Given the description of an element on the screen output the (x, y) to click on. 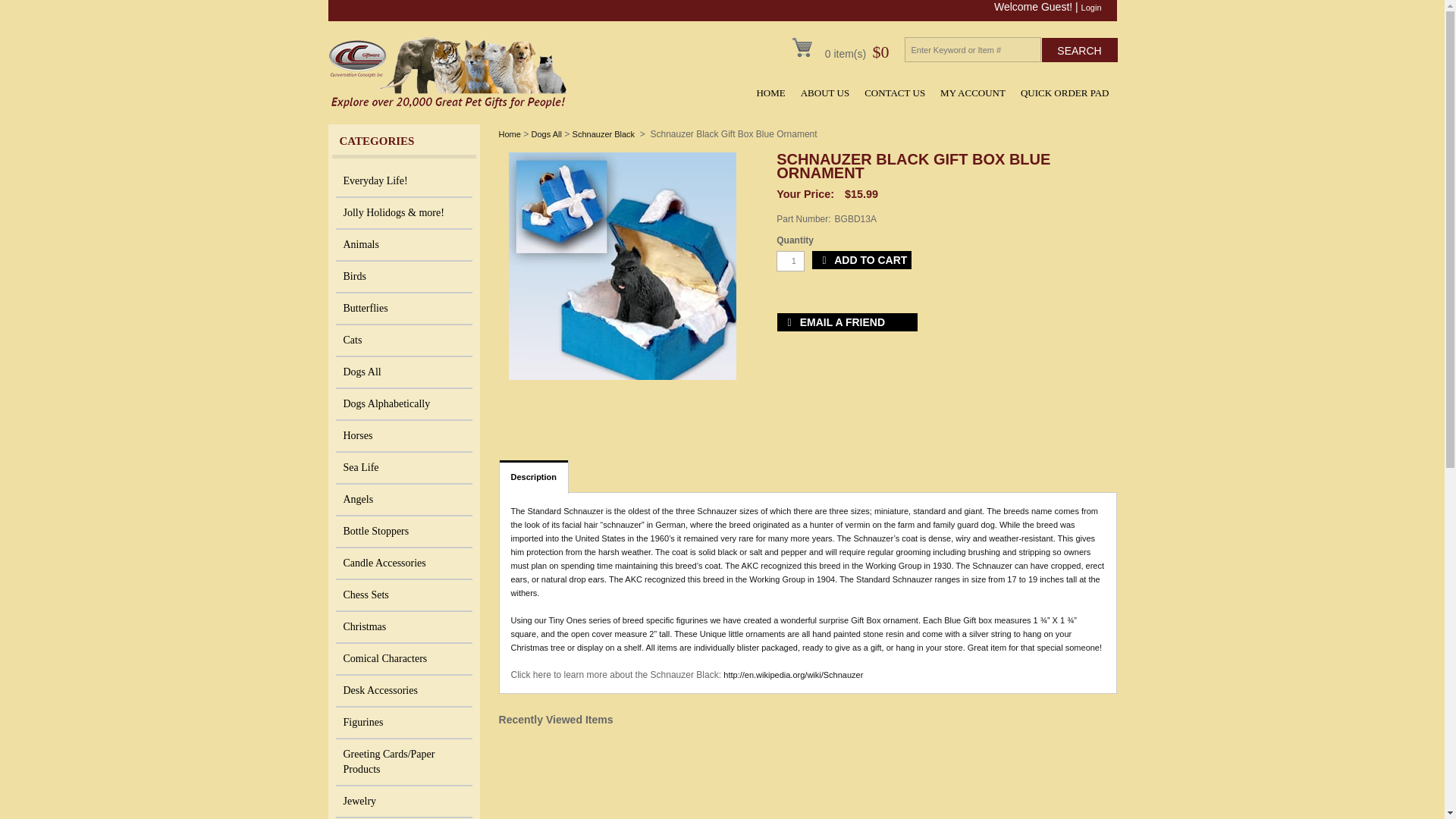
Butterflies (402, 309)
CONTACT US (886, 92)
Bottle Stoppers (402, 531)
Dogs All (402, 373)
Jewelry (402, 802)
SEARCH (1080, 49)
HOME (762, 92)
Sea Life (402, 468)
Comical Characters (402, 659)
SEARCH (1080, 49)
Angels (402, 500)
Birds (402, 277)
Horses (402, 436)
Dogs Alphabetically (402, 404)
Conversation Concepts (448, 104)
